Given the description of an element on the screen output the (x, y) to click on. 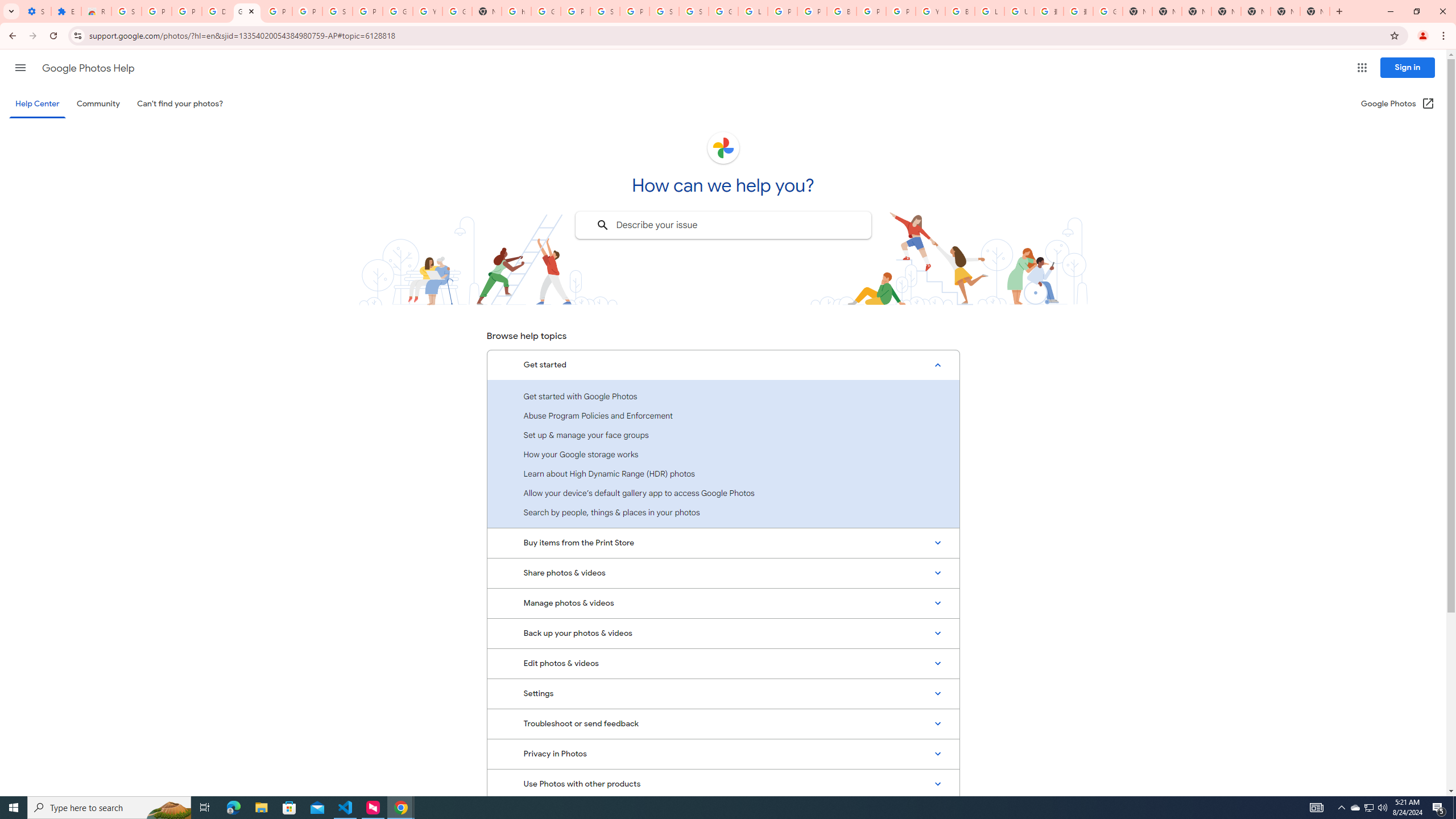
Sign in - Google Accounts (337, 11)
Describe your issue to find information that might help you. (722, 225)
Sign in - Google Accounts (664, 11)
Help Center (36, 103)
YouTube (930, 11)
Sign in - Google Accounts (693, 11)
Learn about High Dynamic Range (HDR) photos (722, 473)
